Given the description of an element on the screen output the (x, y) to click on. 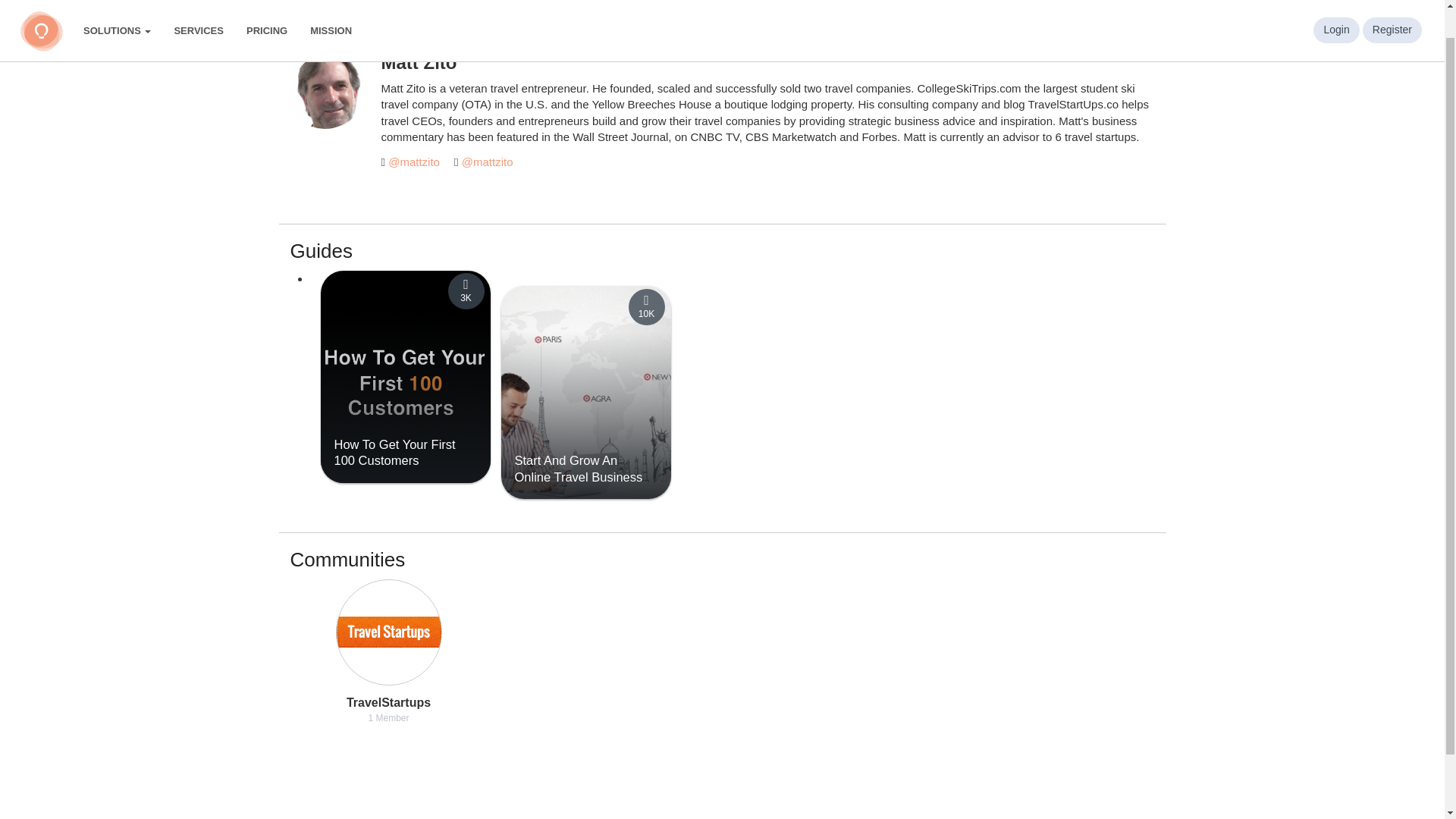
TravelStartups (387, 632)
Register (1392, 6)
View How To Get Your First 100 Customers on Guides (393, 451)
MISSION (330, 15)
View Start And Grow An Online Travel Business on Guides (577, 468)
Start And Grow An Online Travel Business (577, 468)
SERVICES (197, 15)
SOLUTIONS (116, 15)
Login (1335, 6)
Matt  Zito (327, 90)
